Given the description of an element on the screen output the (x, y) to click on. 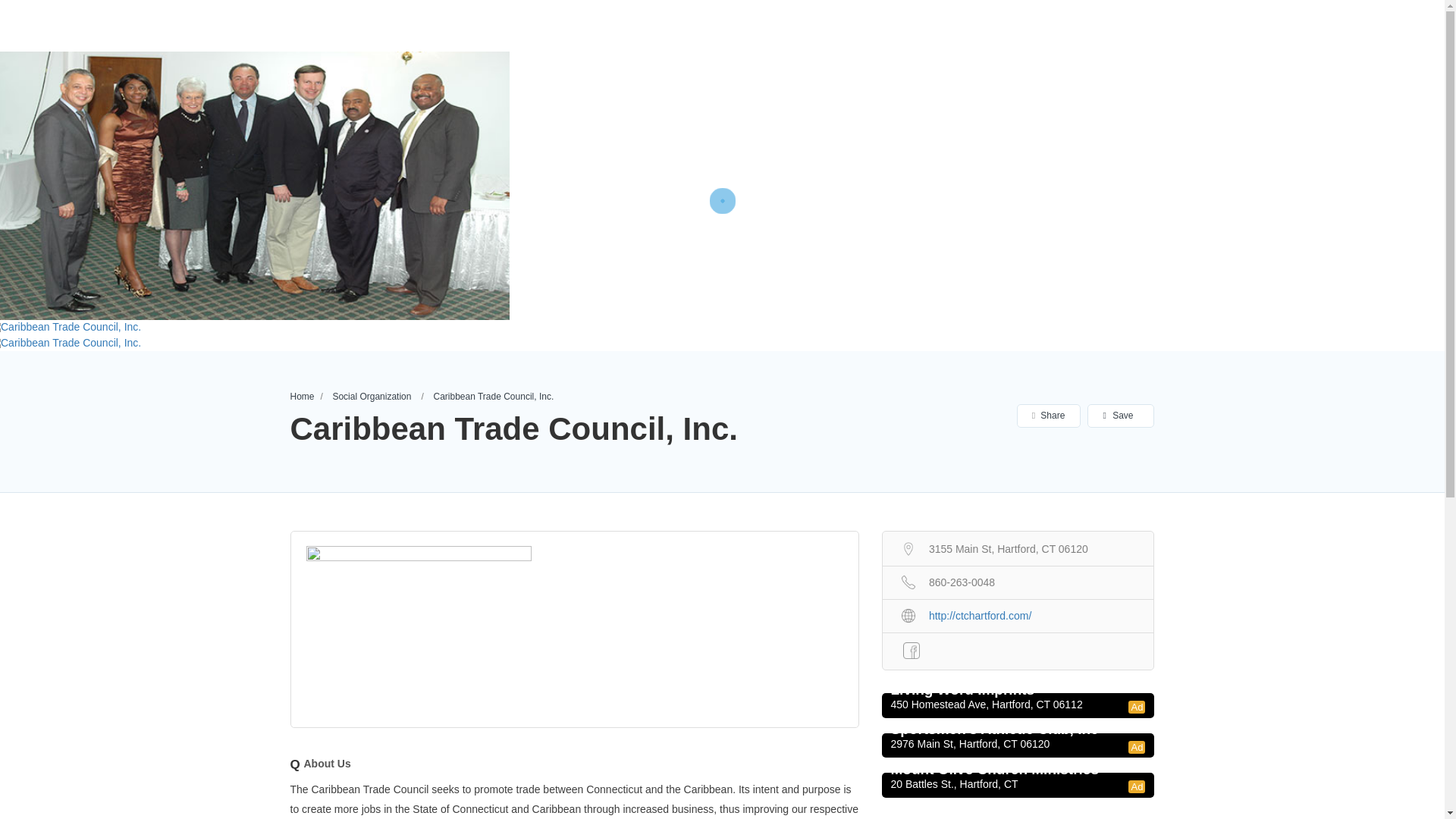
Add Listing (1377, 24)
Living Word Imprints (1016, 689)
Sign In (1306, 25)
Save (1119, 415)
Share (1048, 415)
Submit (411, 502)
860-263-0048 (1018, 581)
3155 Main St, Hartford, CT 06120 (1018, 548)
Social Organization (370, 396)
Home (301, 396)
